Given the description of an element on the screen output the (x, y) to click on. 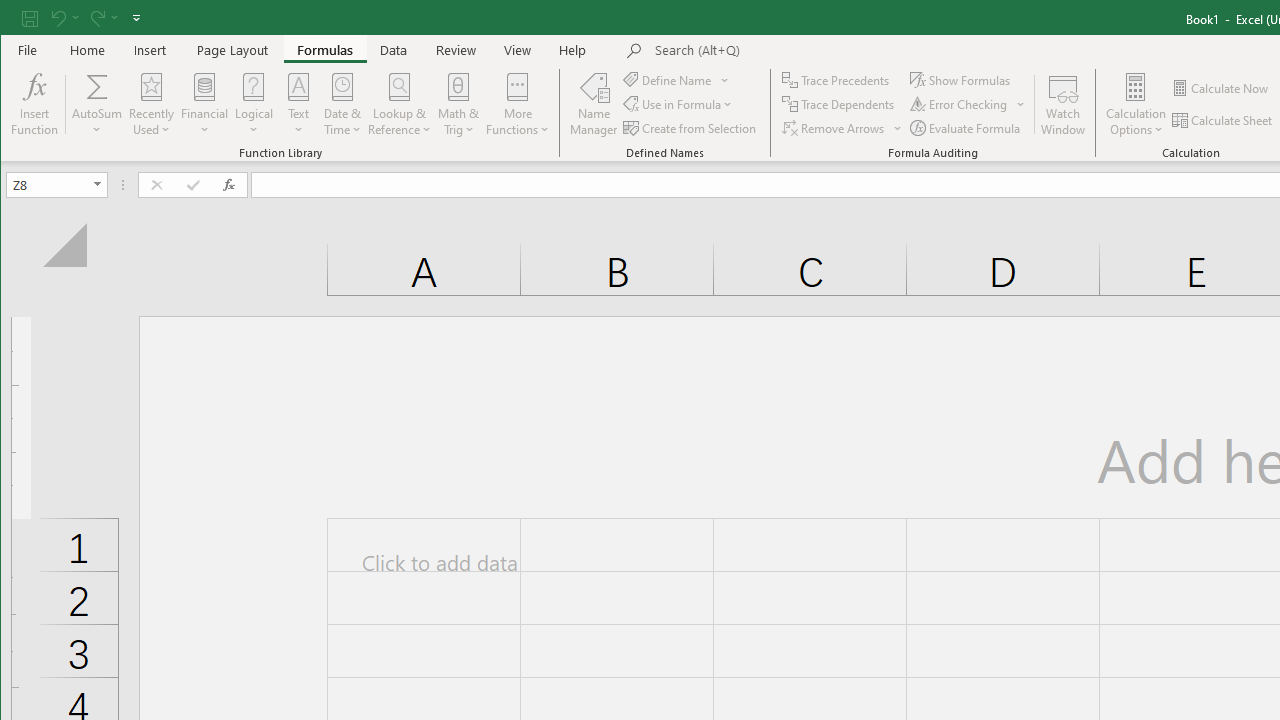
Remove Arrows (843, 127)
Use in Formula (678, 103)
Remove Arrows (834, 127)
Define Name... (668, 80)
Watch Window (1063, 104)
Recently Used (151, 104)
Insert Function... (34, 104)
Create from Selection... (690, 127)
Lookup & Reference (399, 104)
